Given the description of an element on the screen output the (x, y) to click on. 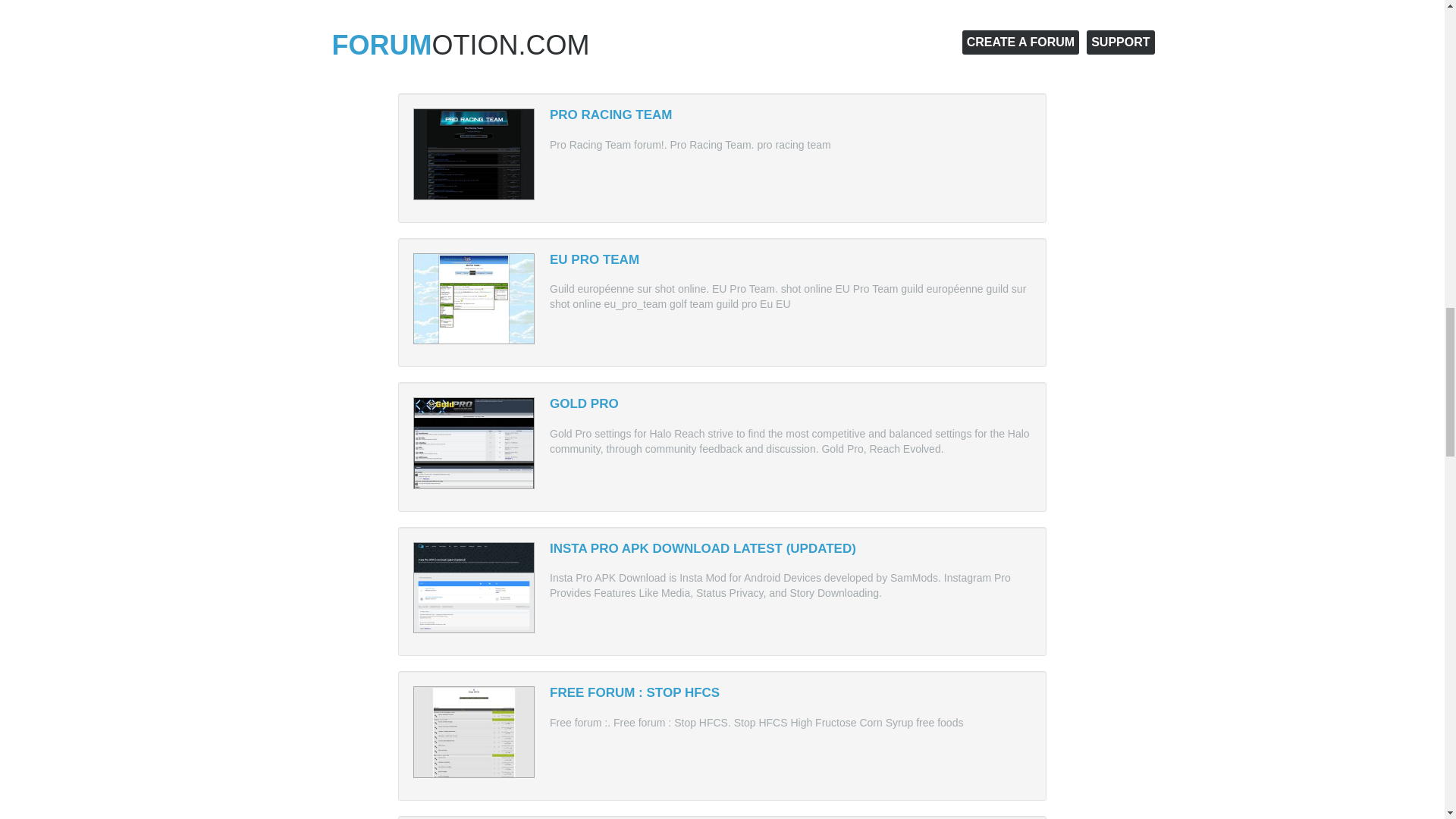
GOLD PRO (584, 403)
EU PRO TEAM (594, 259)
EU Pro Team (594, 259)
FREE FORUM : STOP HFCS (634, 692)
Pro Racing Team (611, 114)
PRO RACING TEAM (611, 114)
